Given the description of an element on the screen output the (x, y) to click on. 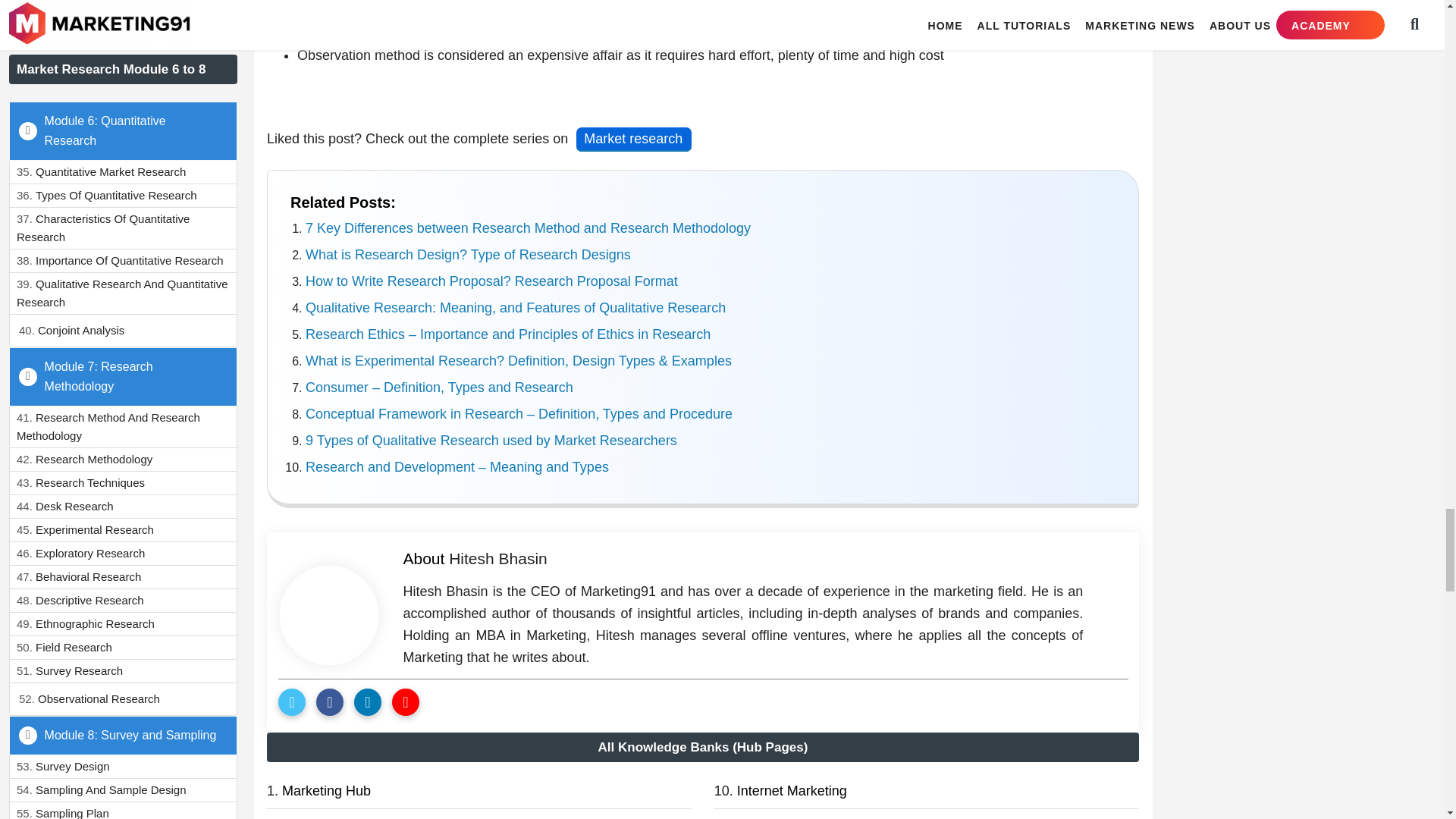
How to Write Research Proposal? Research Proposal Format (491, 281)
What is Research Design? Type of Research Designs (467, 254)
